Given the description of an element on the screen output the (x, y) to click on. 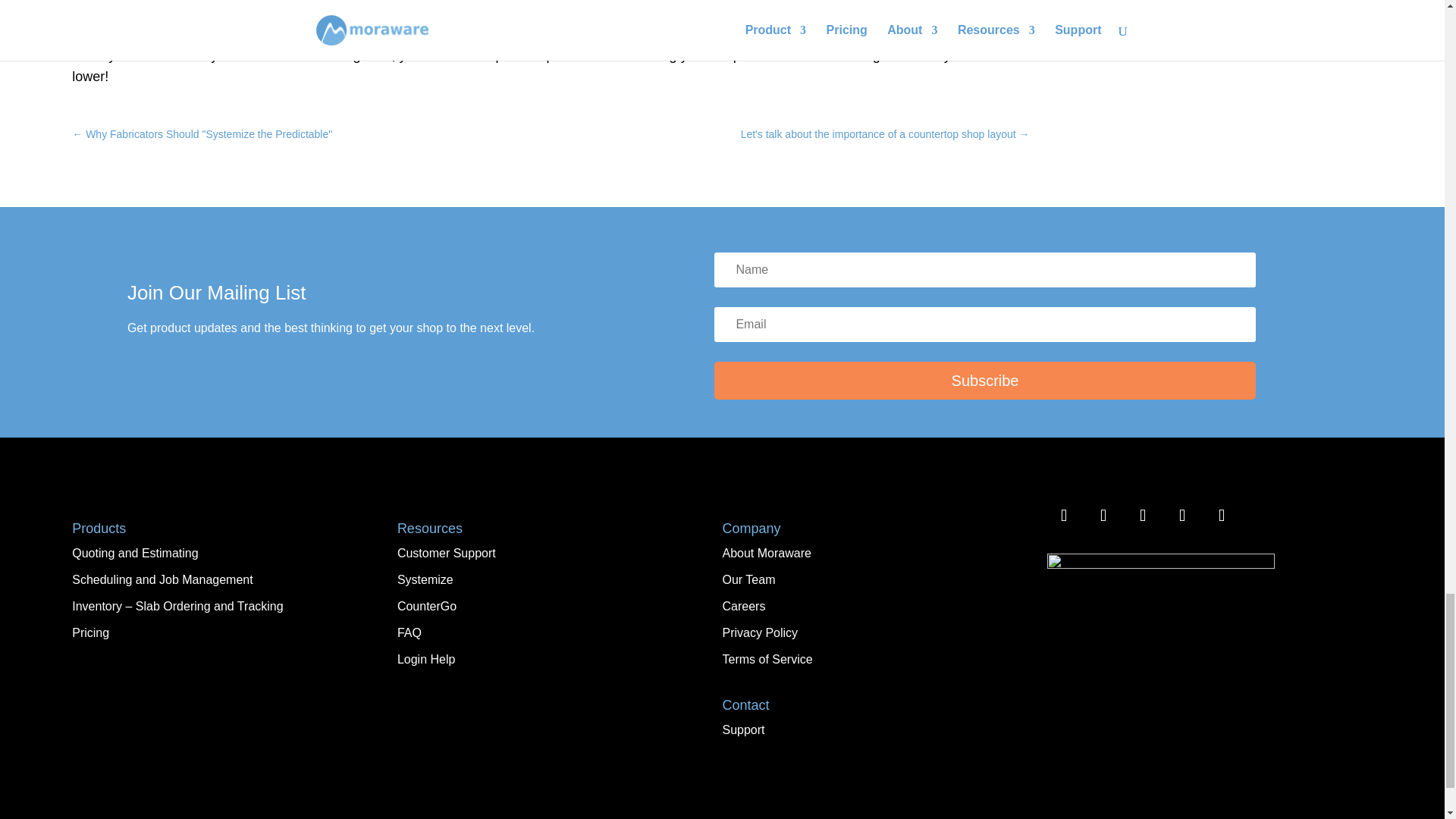
Follow on X (1141, 515)
Follow on Youtube (1222, 515)
Follow on LinkedIn (1182, 515)
Follow on Facebook (1063, 515)
Follow on Instagram (1102, 515)
